Given the description of an element on the screen output the (x, y) to click on. 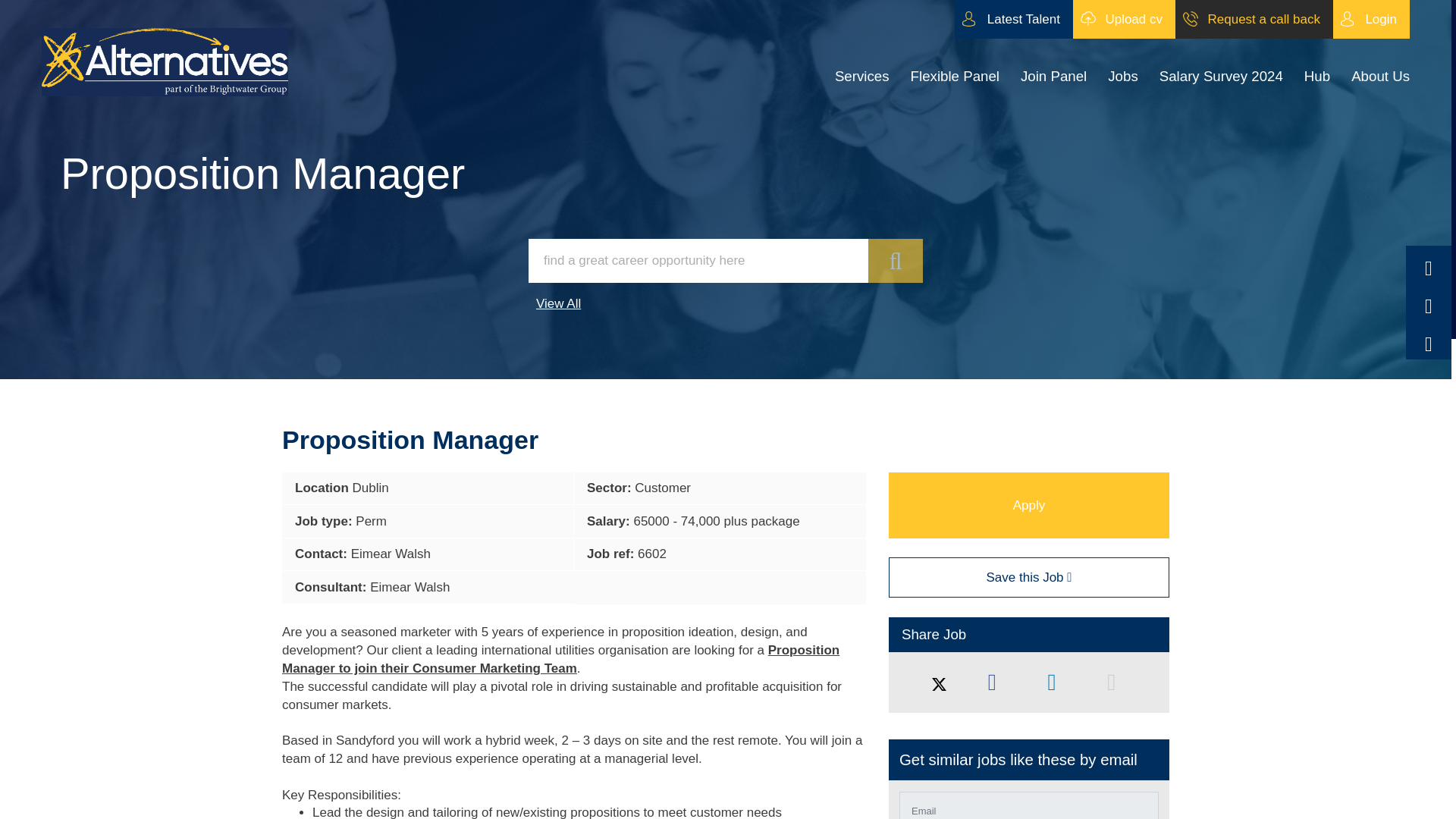
Alternatives (165, 61)
Login (1371, 19)
Upload cv (1123, 19)
Latest Talent (1014, 19)
Request a call back (1253, 19)
